Given the description of an element on the screen output the (x, y) to click on. 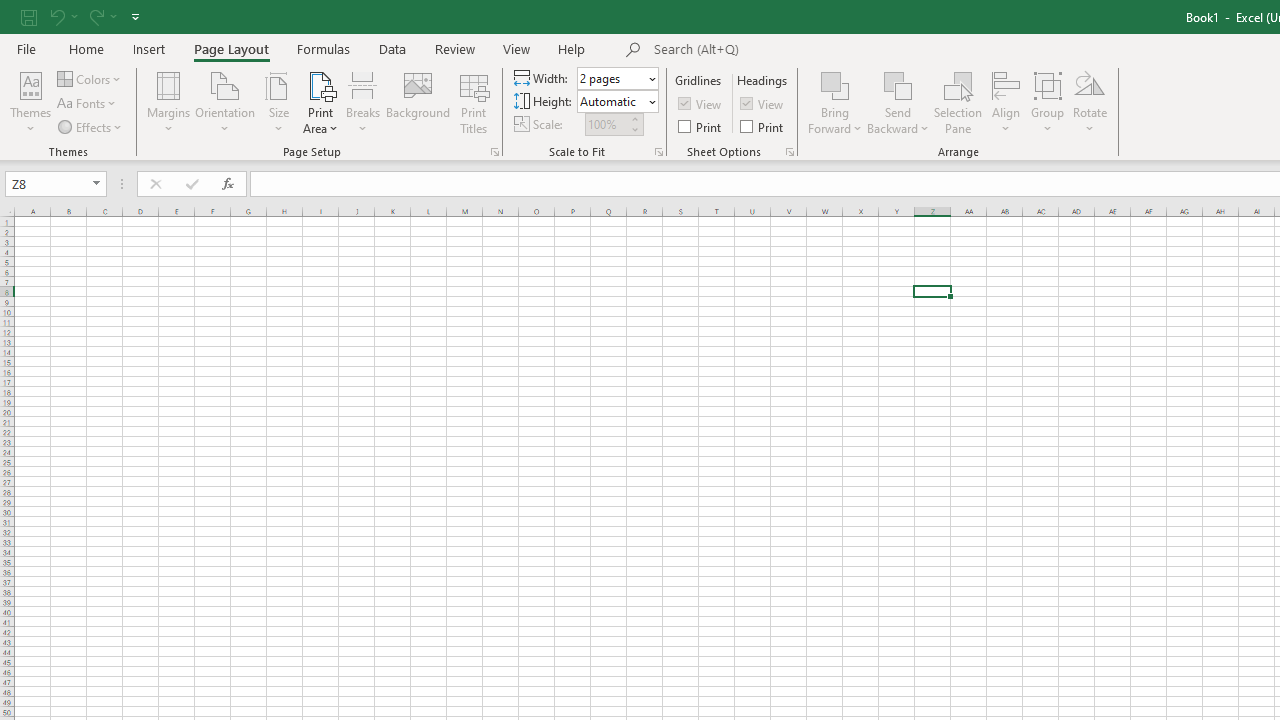
Width (611, 78)
Orientation (225, 102)
Page Setup (658, 151)
More (633, 118)
Rotate (1089, 102)
Size (278, 102)
Bring Forward (835, 84)
Send Backward (898, 102)
Width (618, 78)
